Given the description of an element on the screen output the (x, y) to click on. 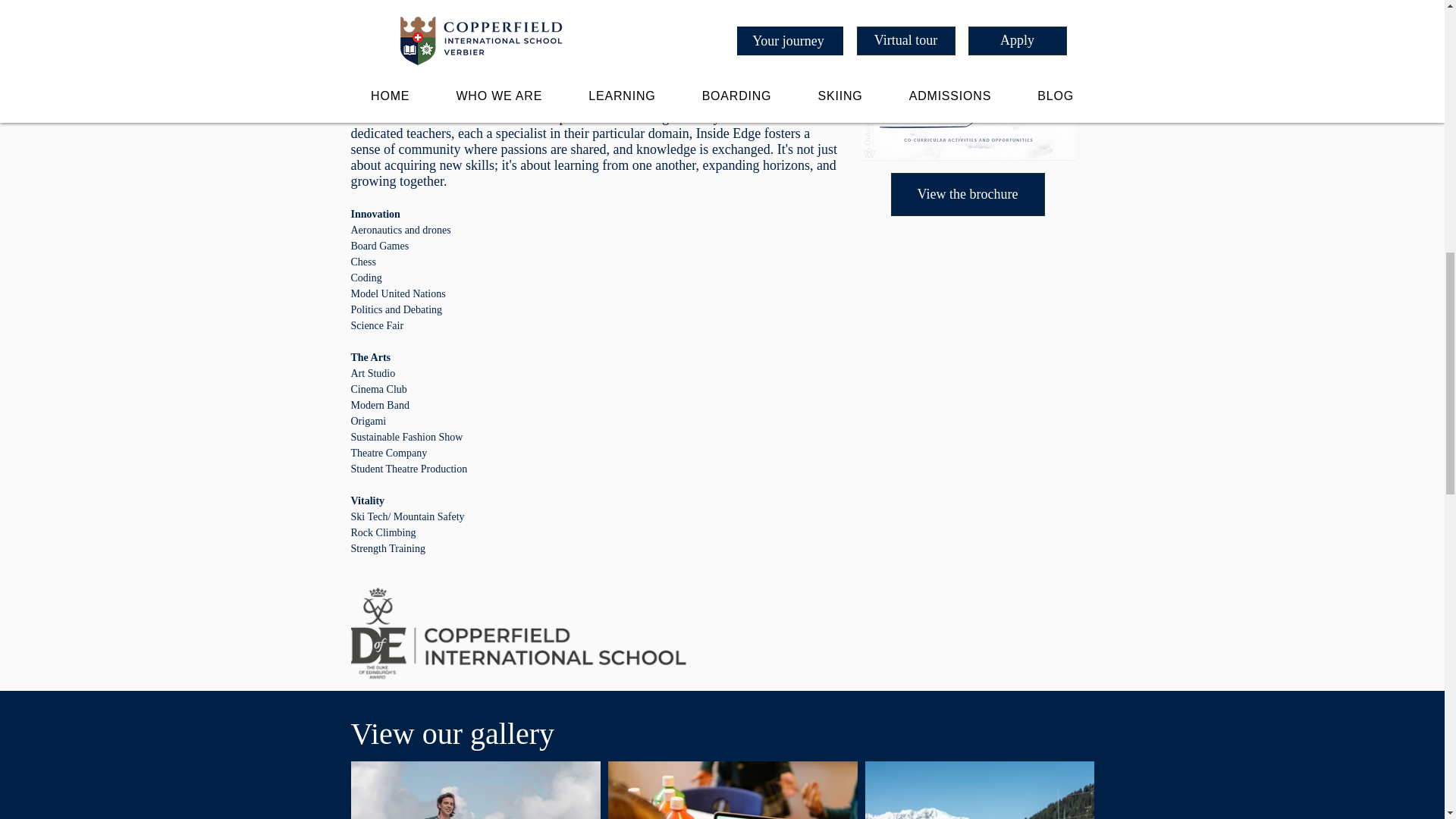
View the brochure (966, 194)
